Given the description of an element on the screen output the (x, y) to click on. 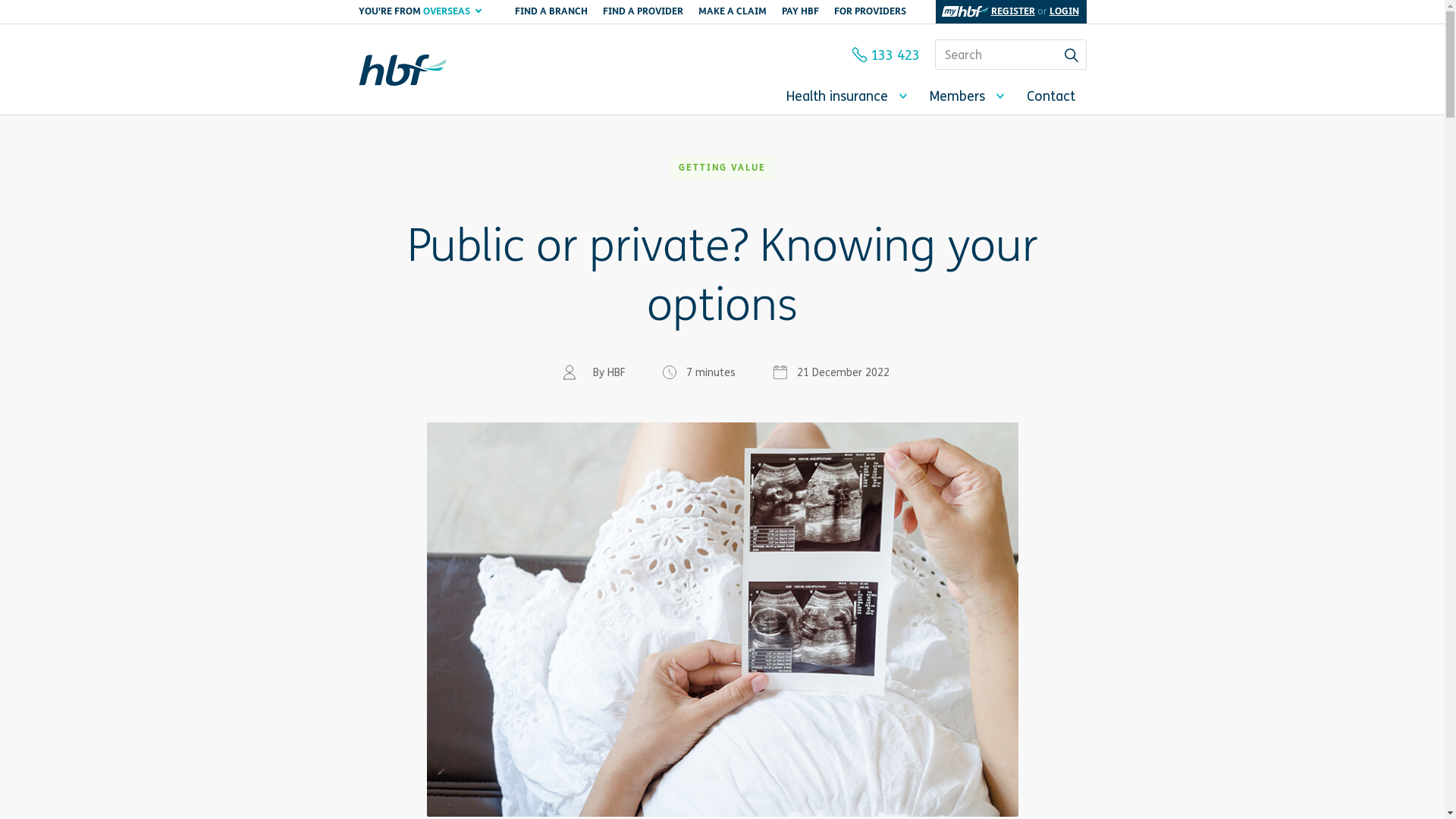
Health insurance Element type: text (846, 96)
Maternity pregnancy Element type: hover (721, 619)
HBF Health Insurance Homepage Element type: text (433, 69)
Skip to main content Element type: text (369, 8)
LOGIN Element type: text (1064, 11)
PAY HBF Element type: text (799, 11)
GETTING VALUE Element type: text (722, 167)
YOU'RE FROM OVERSEAS Element type: text (418, 11)
SUBMIT YOUR SEARCH Element type: text (1070, 54)
REGISTER Element type: text (1012, 11)
FIND A PROVIDER Element type: text (642, 11)
FIND A BRANCH Element type: text (550, 11)
FOR PROVIDERS Element type: text (869, 11)
Contact Element type: text (1049, 96)
HBF Health Insurance Homepage Element type: hover (425, 69)
MAKE A CLAIM Element type: text (731, 11)
Members Element type: text (965, 96)
